Given the description of an element on the screen output the (x, y) to click on. 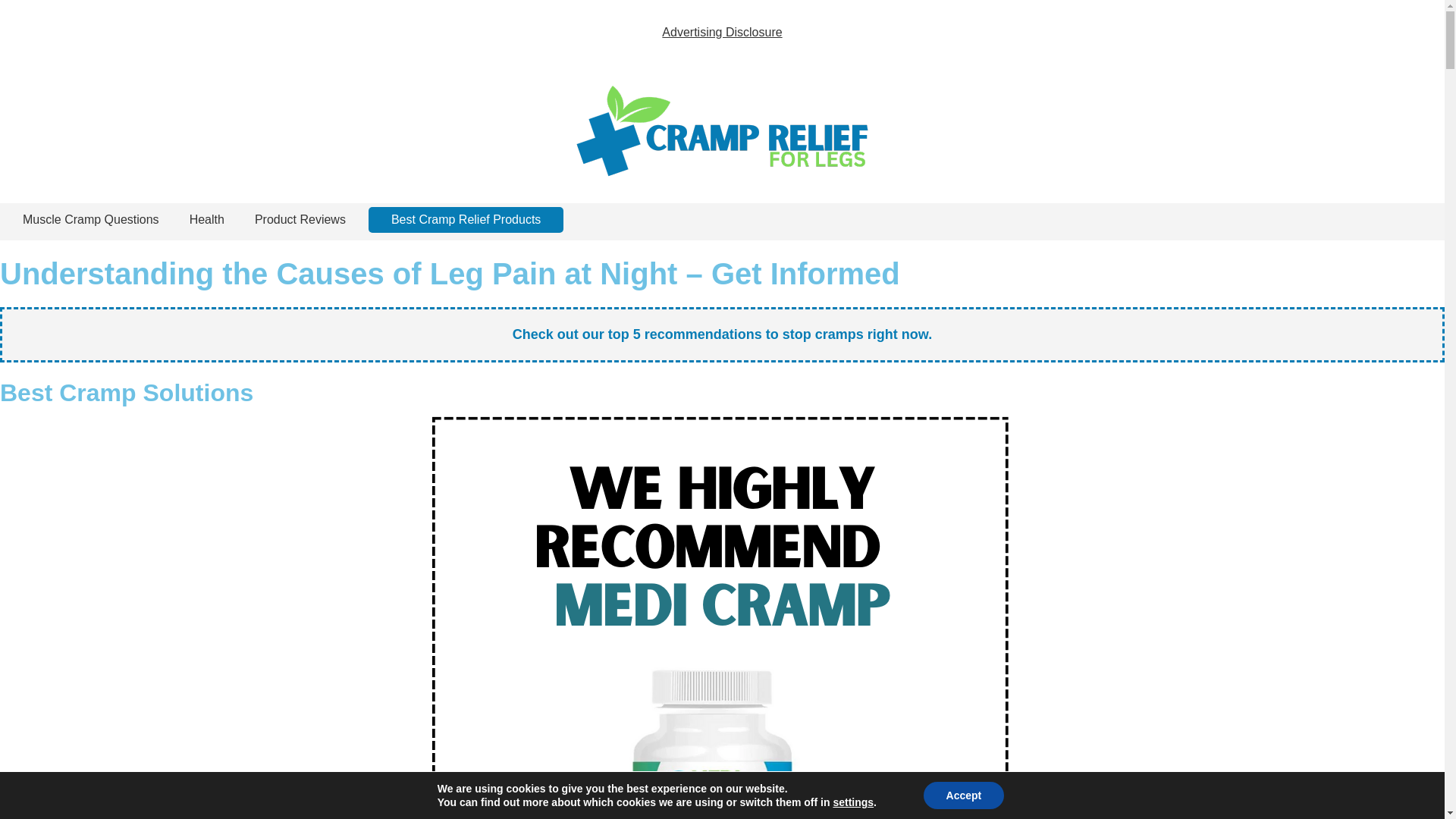
Best Cramp Relief Products (465, 219)
Product Reviews (300, 219)
Muscle Cramp Questions (90, 219)
Health (206, 219)
